Given the description of an element on the screen output the (x, y) to click on. 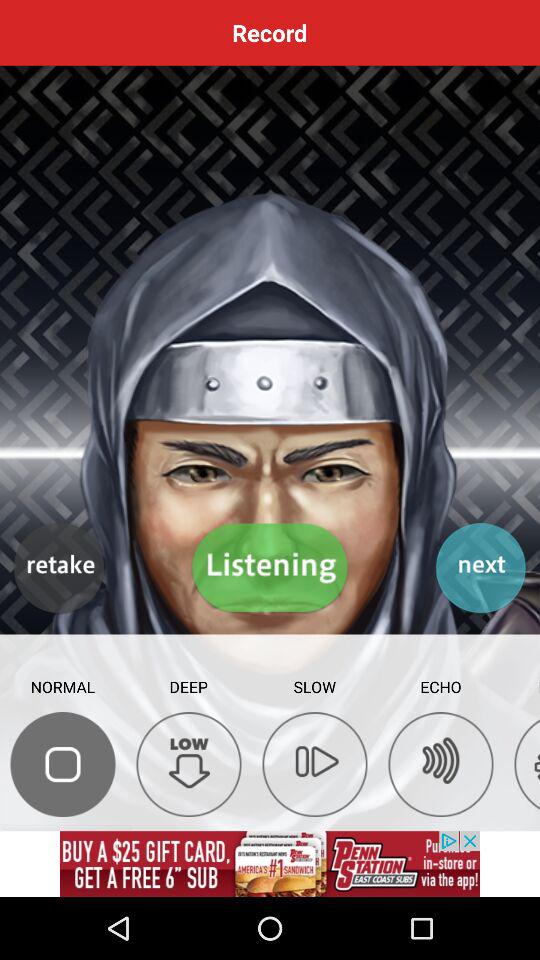
select the echo (440, 764)
